Given the description of an element on the screen output the (x, y) to click on. 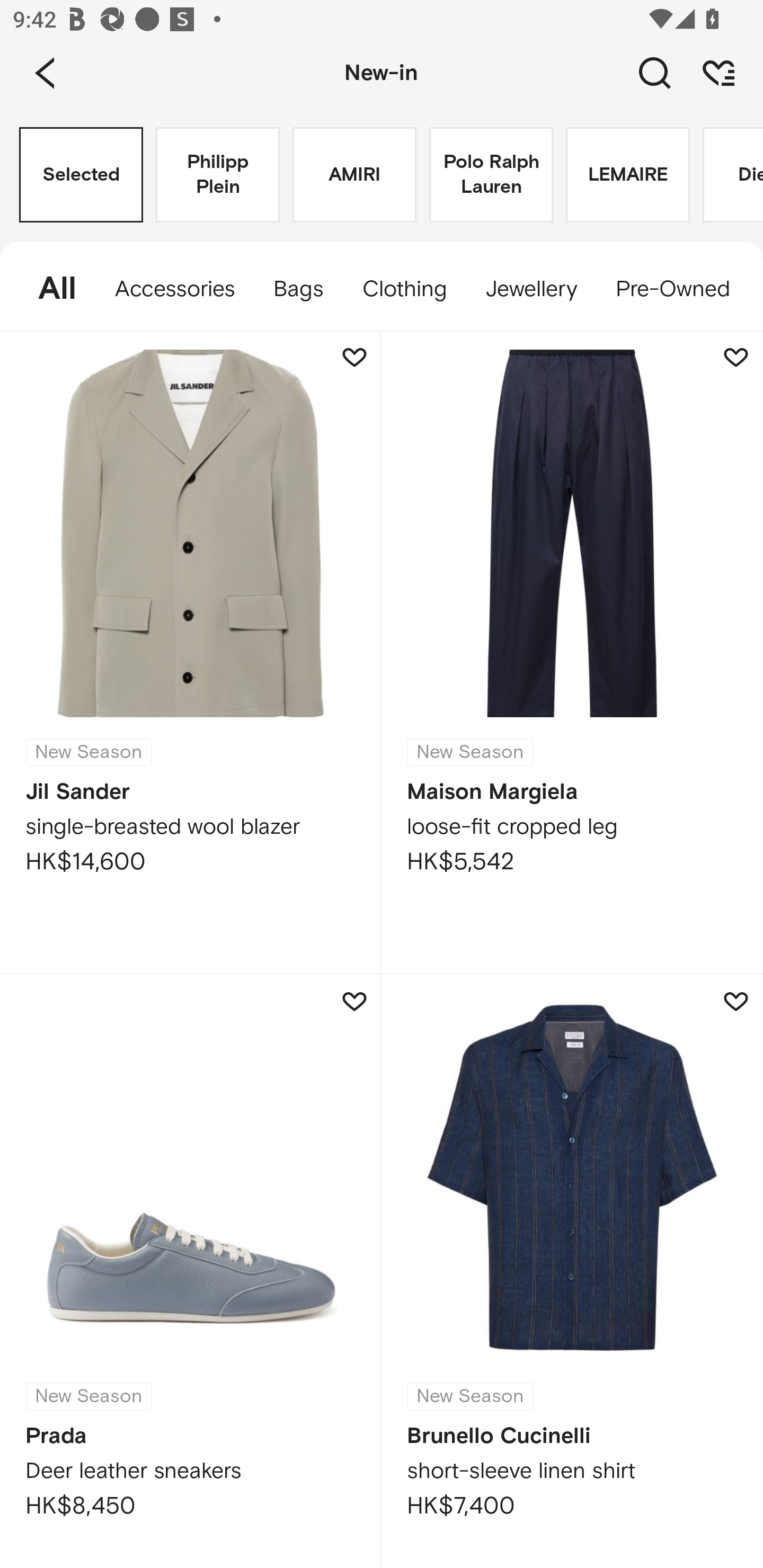
Selected (81, 174)
Philipp Plein (217, 174)
AMIRI (354, 174)
Polo Ralph Lauren (490, 174)
LEMAIRE (627, 174)
All (47, 289)
Accessories (174, 289)
Bags (298, 289)
Clothing (403, 289)
Jewellery (530, 289)
Pre-Owned (671, 289)
New Season Prada Deer leather sneakers HK$8,450 (190, 1271)
